Given the description of an element on the screen output the (x, y) to click on. 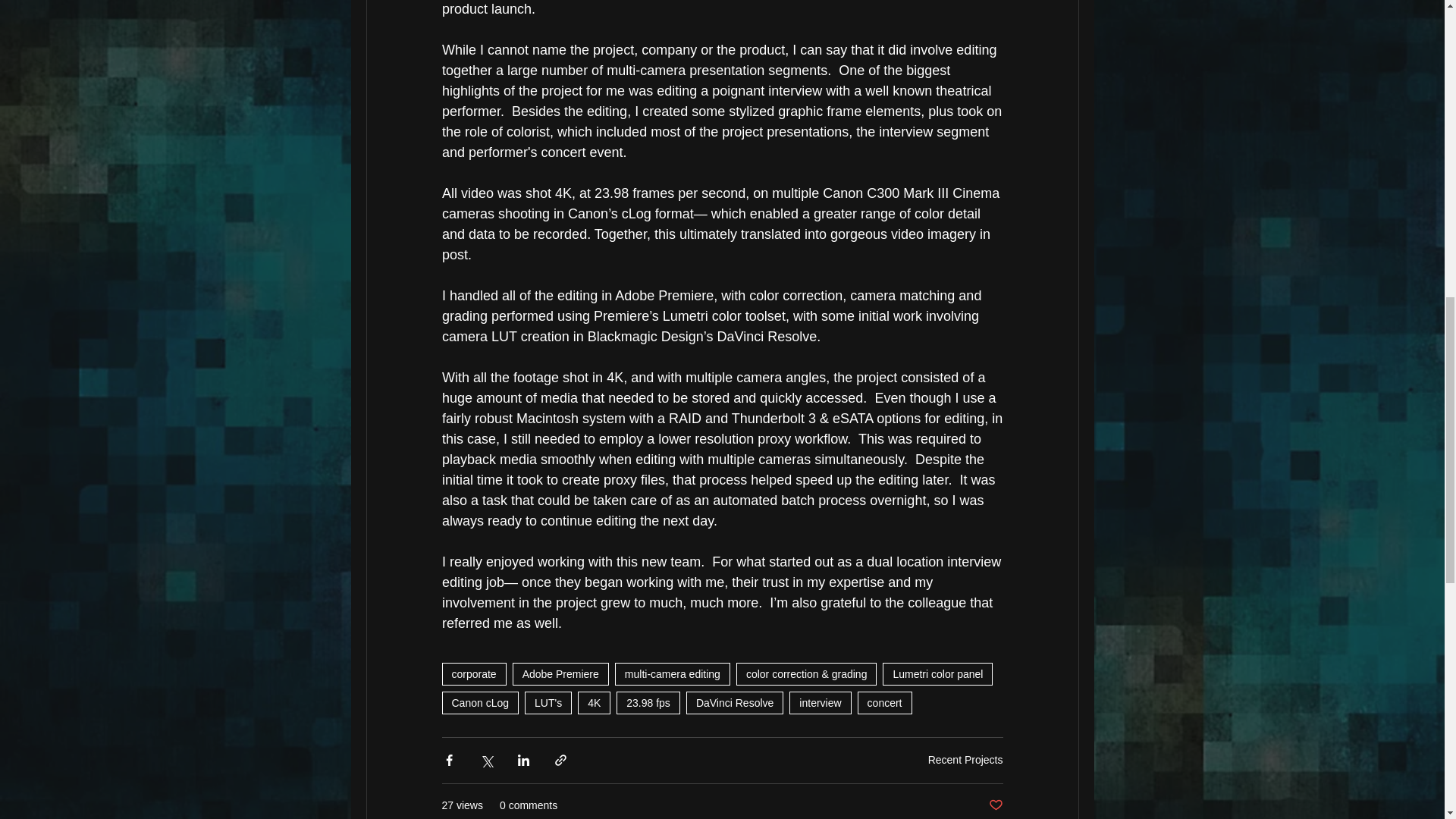
multi-camera editing (672, 673)
Adobe Premiere (560, 673)
concert (884, 702)
Canon cLog (479, 702)
DaVinci Resolve (734, 702)
Lumetri color panel (937, 673)
LUT's (548, 702)
23.98 fps (647, 702)
Recent Projects (965, 759)
4K (594, 702)
